Given the description of an element on the screen output the (x, y) to click on. 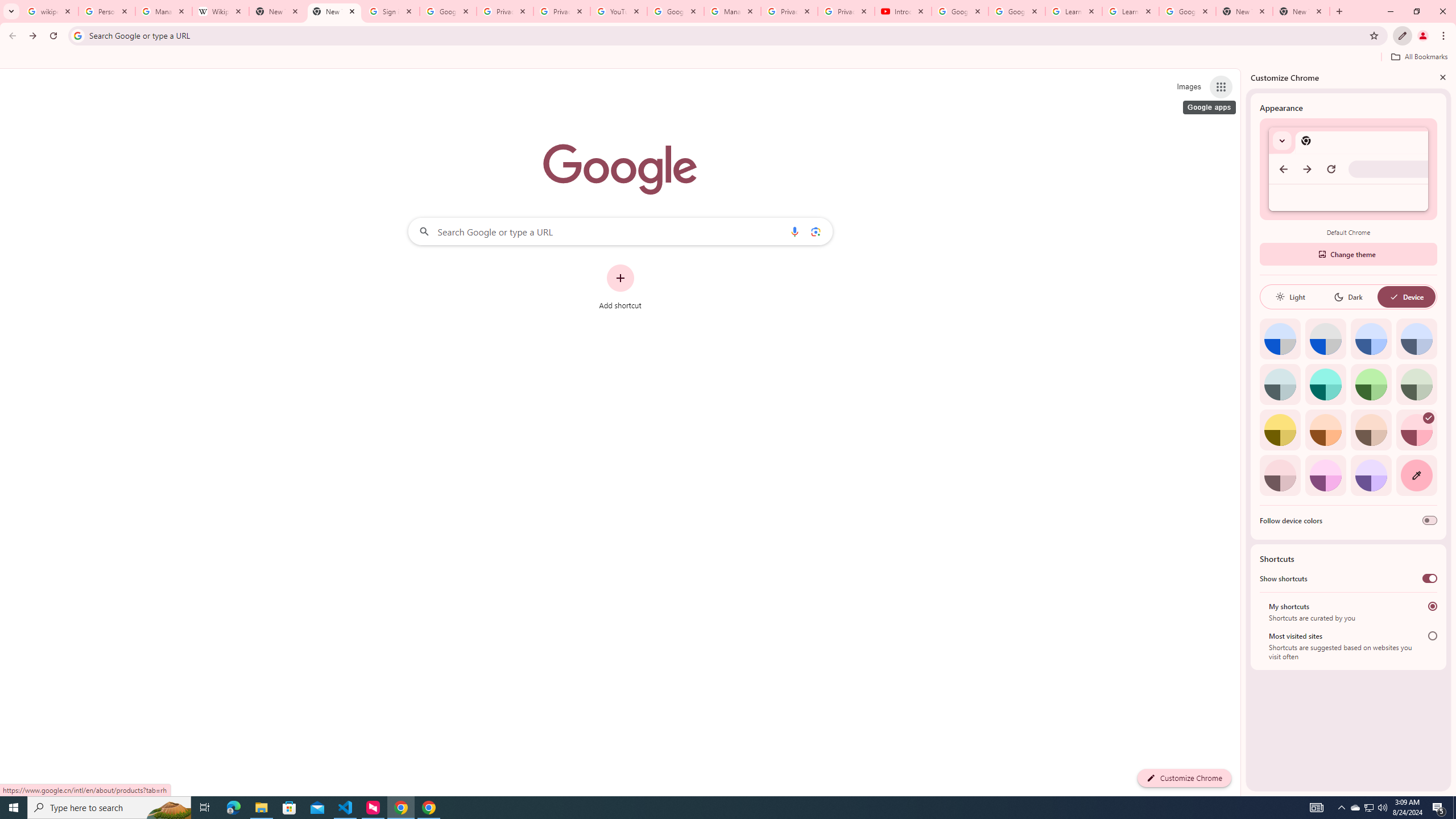
Default Chrome (1348, 169)
Google Account Help (1015, 11)
Default color (1279, 338)
Wikipedia:Edit requests - Wikipedia (220, 11)
AutomationID: baseSvg (1394, 296)
Add shortcut (620, 287)
Google Account Help (675, 11)
